Given the description of an element on the screen output the (x, y) to click on. 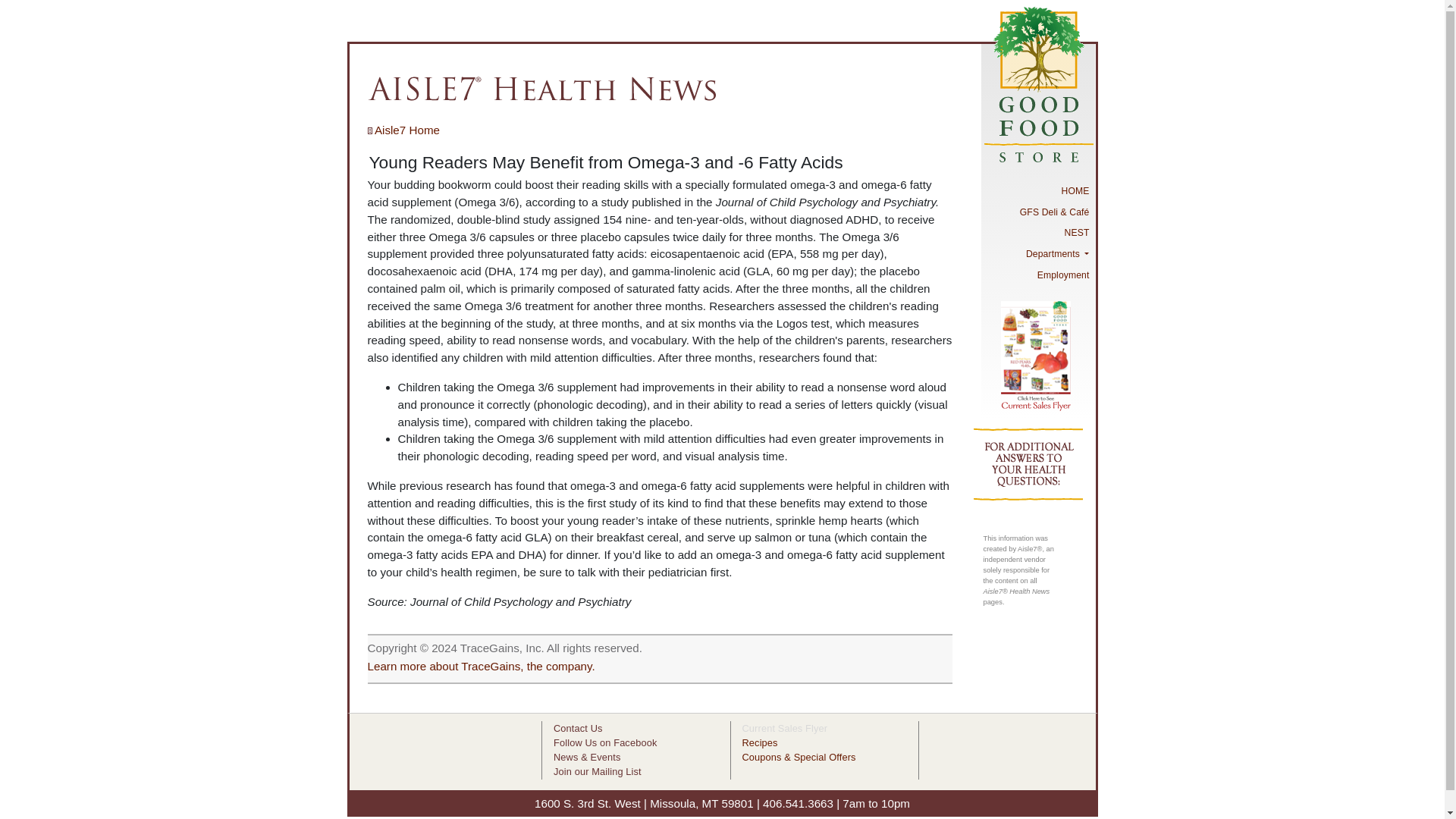
Current Sales Flyer (784, 727)
Join Us on Facebook (604, 742)
Contact Us (577, 727)
NEST (1037, 233)
Recipes (759, 742)
Departments (1037, 253)
Aisle7 Home (402, 129)
Employment (1037, 274)
Join our Mailing List (597, 771)
HOME (1037, 190)
